Given the description of an element on the screen output the (x, y) to click on. 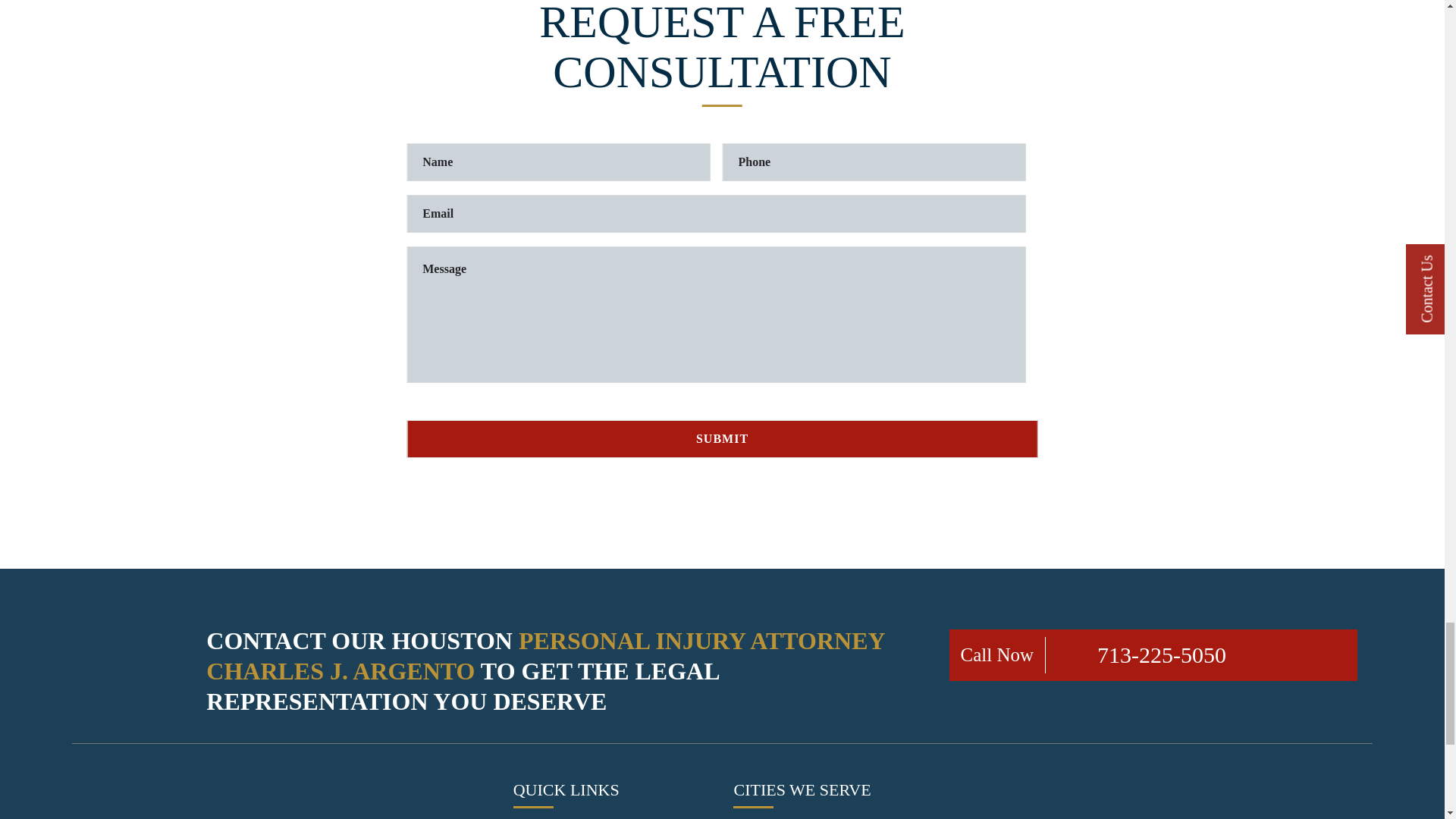
Submit (722, 438)
